Given the description of an element on the screen output the (x, y) to click on. 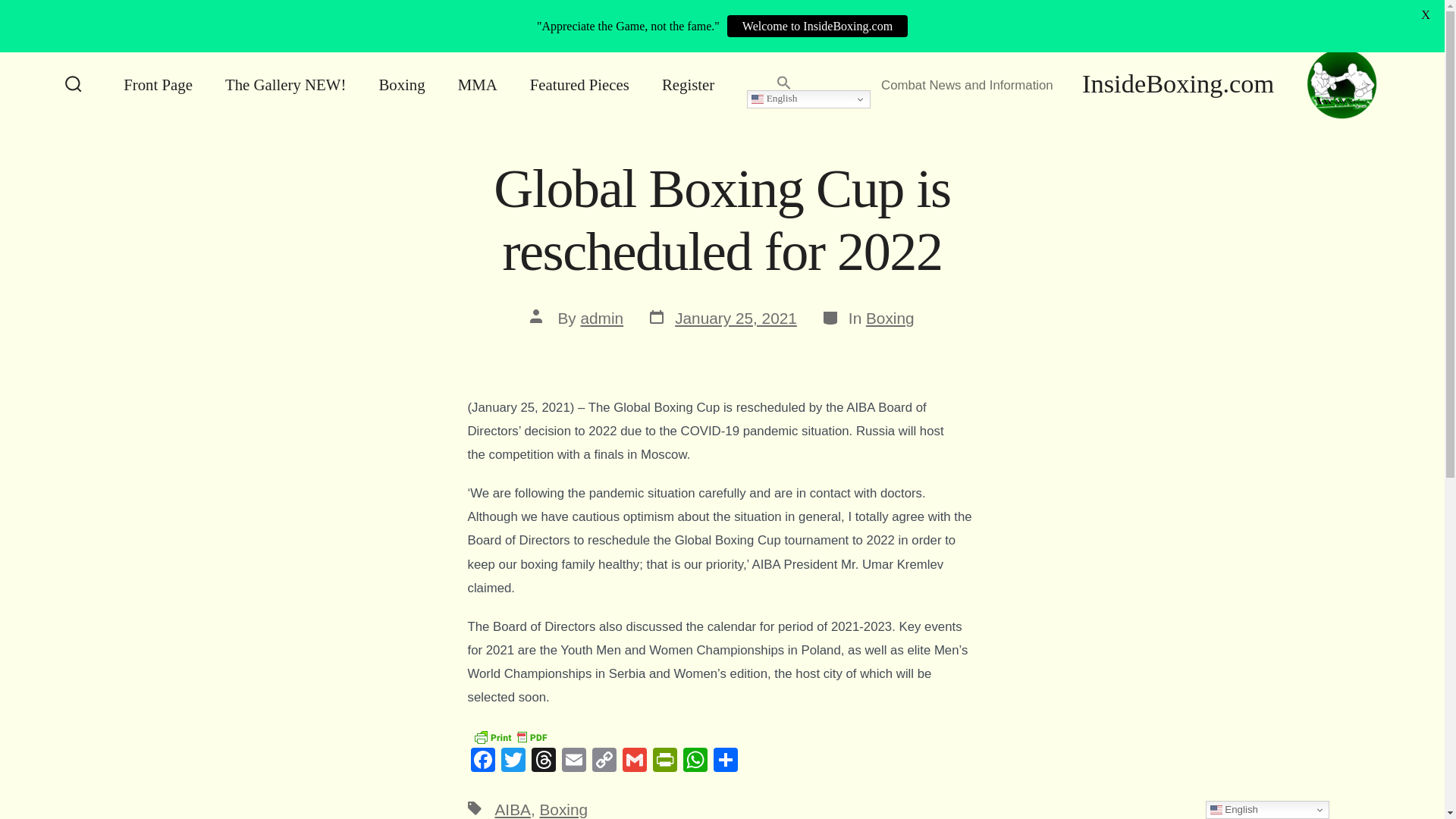
Search Toggle (73, 85)
Boxing (401, 84)
MMA (477, 84)
Register (688, 84)
Featured Pieces (578, 84)
Front Page (157, 84)
The Gallery NEW! (285, 84)
InsideBoxing.com (1192, 84)
